Given the description of an element on the screen output the (x, y) to click on. 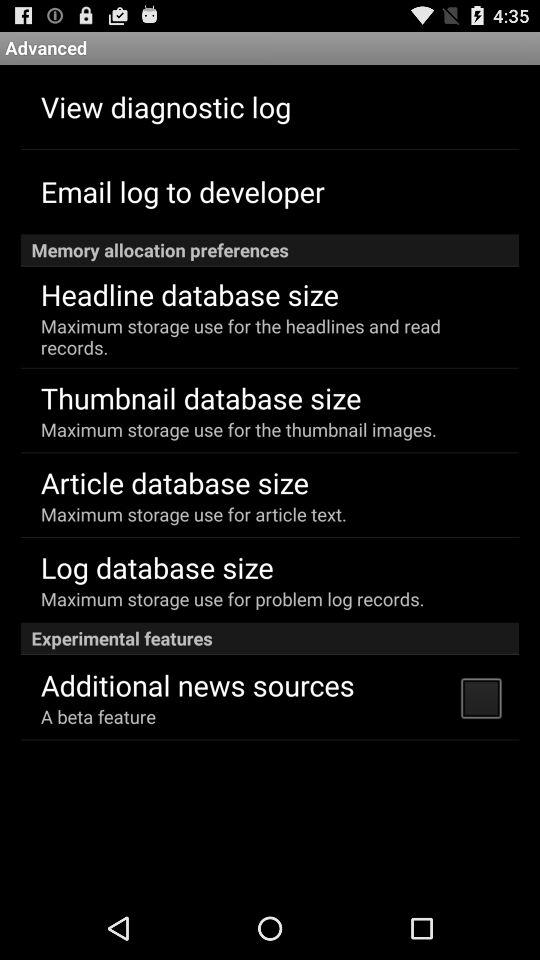
launch the view diagnostic log icon (165, 106)
